Given the description of an element on the screen output the (x, y) to click on. 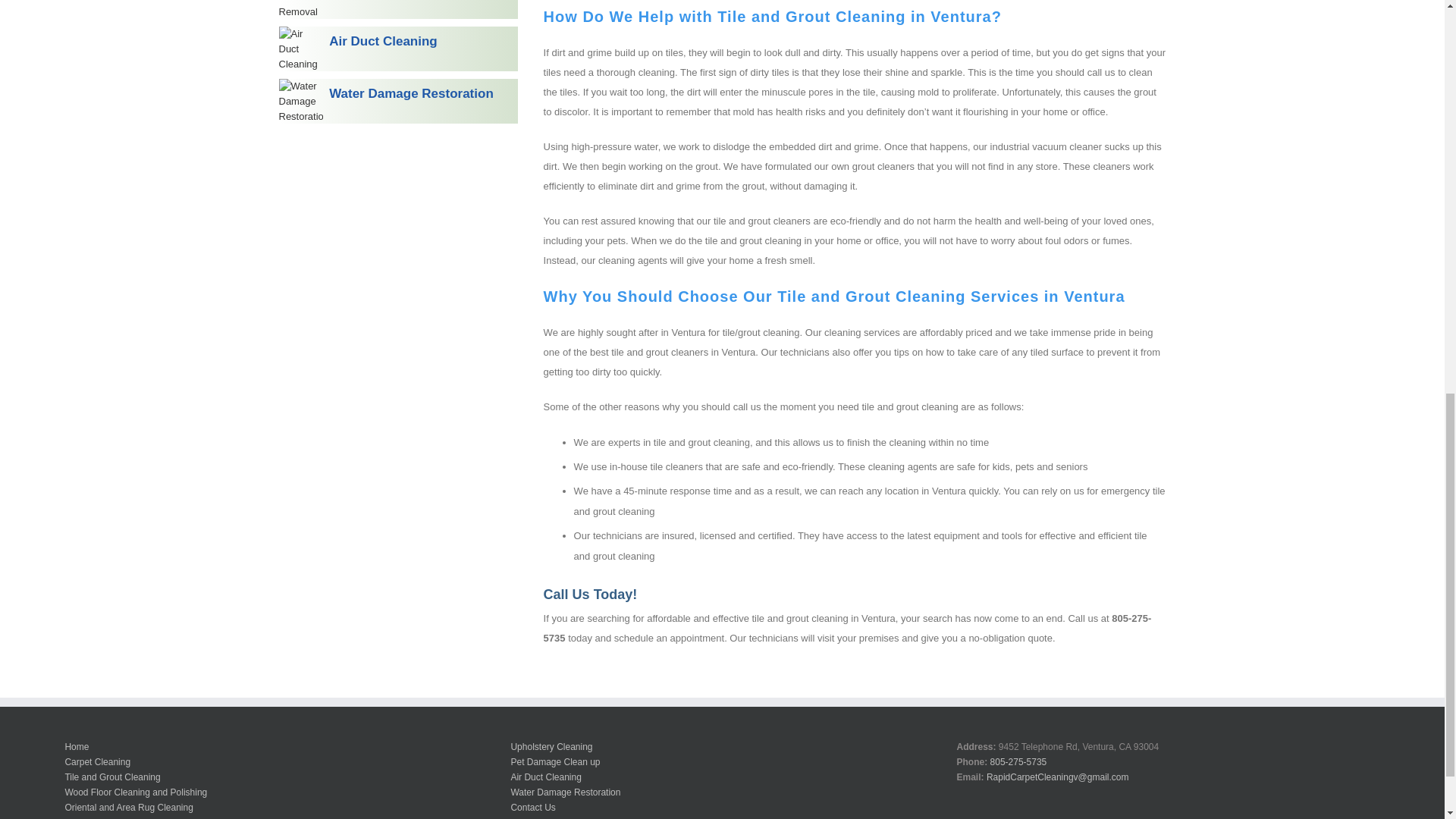
Contact Us (532, 807)
Air Duct Cleaning (545, 776)
Water Damage Restoration (565, 792)
Carpet Cleaning (97, 761)
Air Duct Cleaning (398, 48)
Home (76, 746)
Pet Damage Clean up (555, 761)
Water Damage Restoration (398, 100)
Upholstery Cleaning (551, 746)
Pet Damage Clean Up (398, 9)
Tile and Grout Cleaning (112, 776)
Wood Floor Cleaning and Polishing (135, 792)
Oriental and Area Rug Cleaning (128, 807)
805-275-5735 (1018, 761)
